Given the description of an element on the screen output the (x, y) to click on. 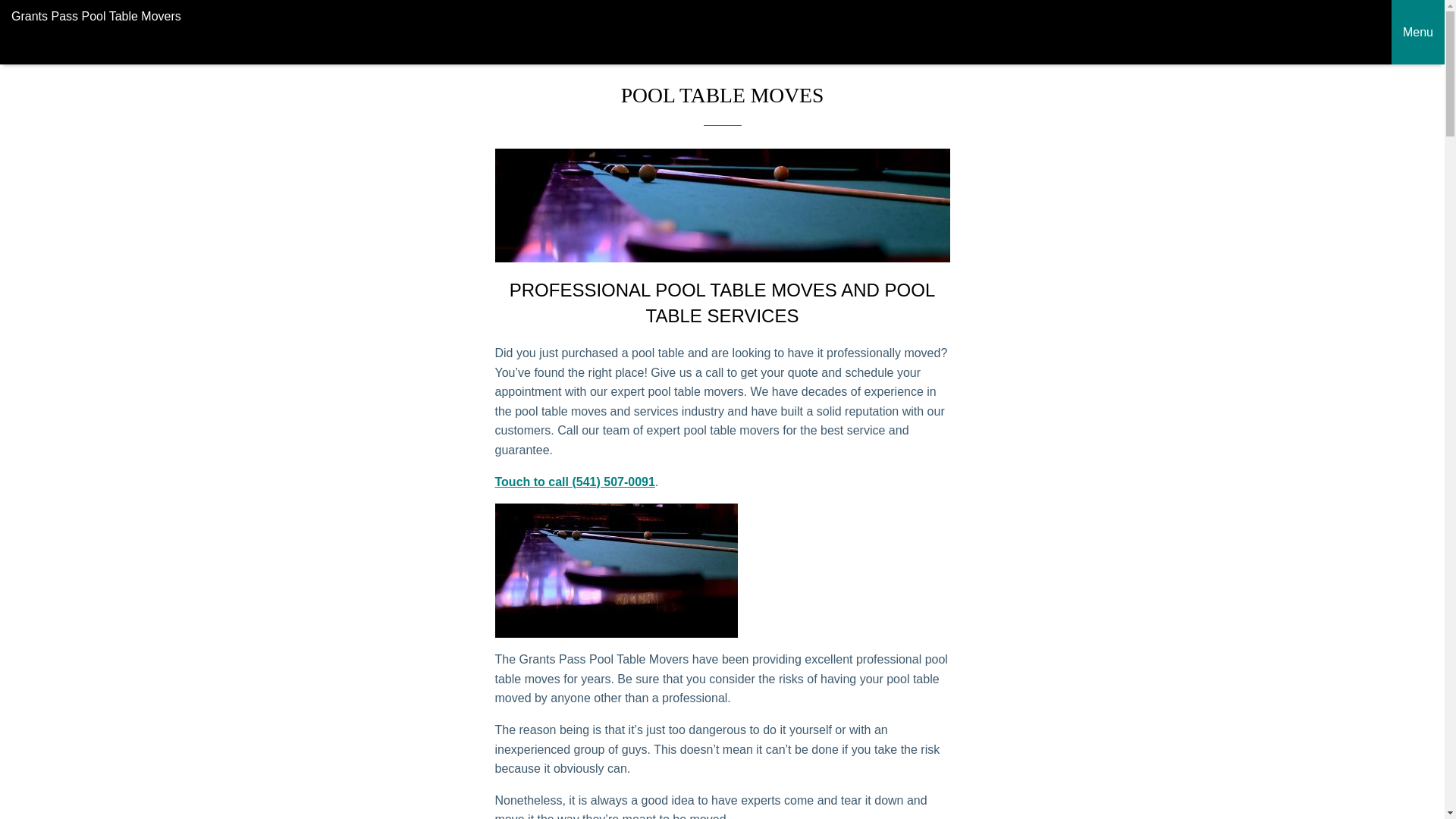
Grants Pass Pool Table Movers (695, 20)
